Given the description of an element on the screen output the (x, y) to click on. 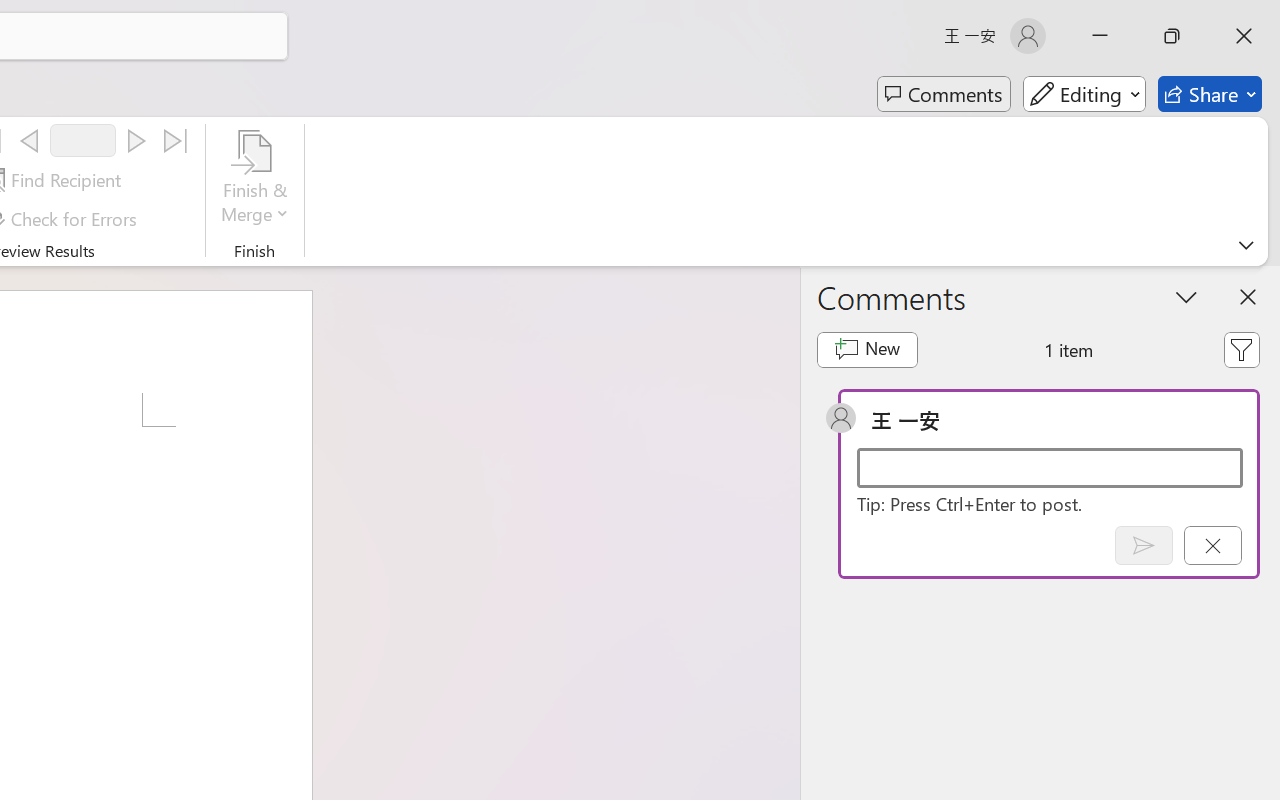
Find... (51, 87)
Swap "from" and "to" languages. (1065, 426)
Format Object... (9, 168)
Select (61, 138)
